Given the description of an element on the screen output the (x, y) to click on. 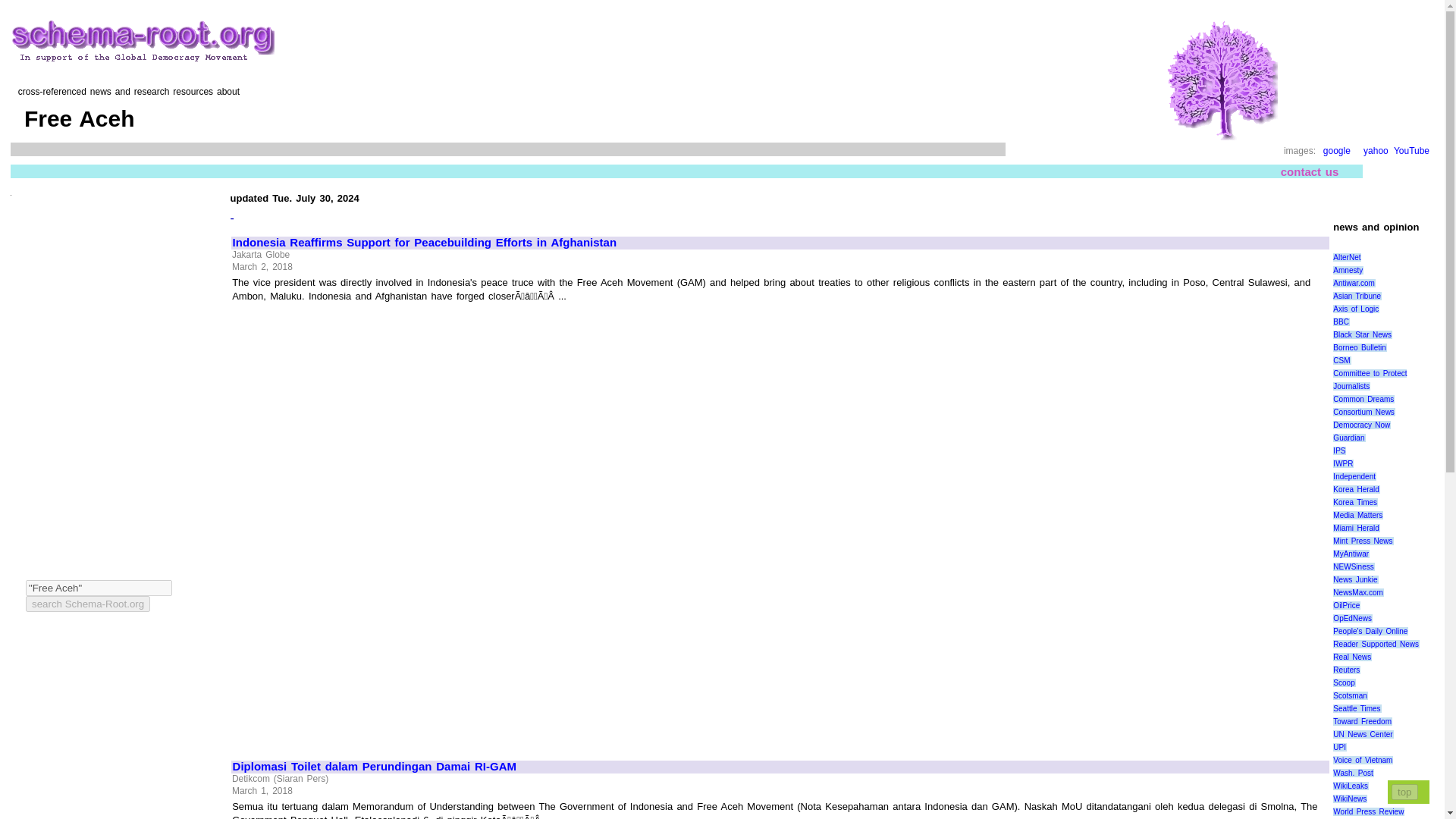
Democracy Now (1361, 424)
Miami Herald (1356, 528)
cross-referenced encyclopedia of current events (143, 41)
Korea Herald (1356, 489)
"Free Aceh" (98, 587)
Media Matters (1358, 515)
NEWSiness (1353, 566)
IWPR (1343, 463)
search Yahoo Images for Free Aceh (1375, 150)
Guardian (1349, 438)
